Given the description of an element on the screen output the (x, y) to click on. 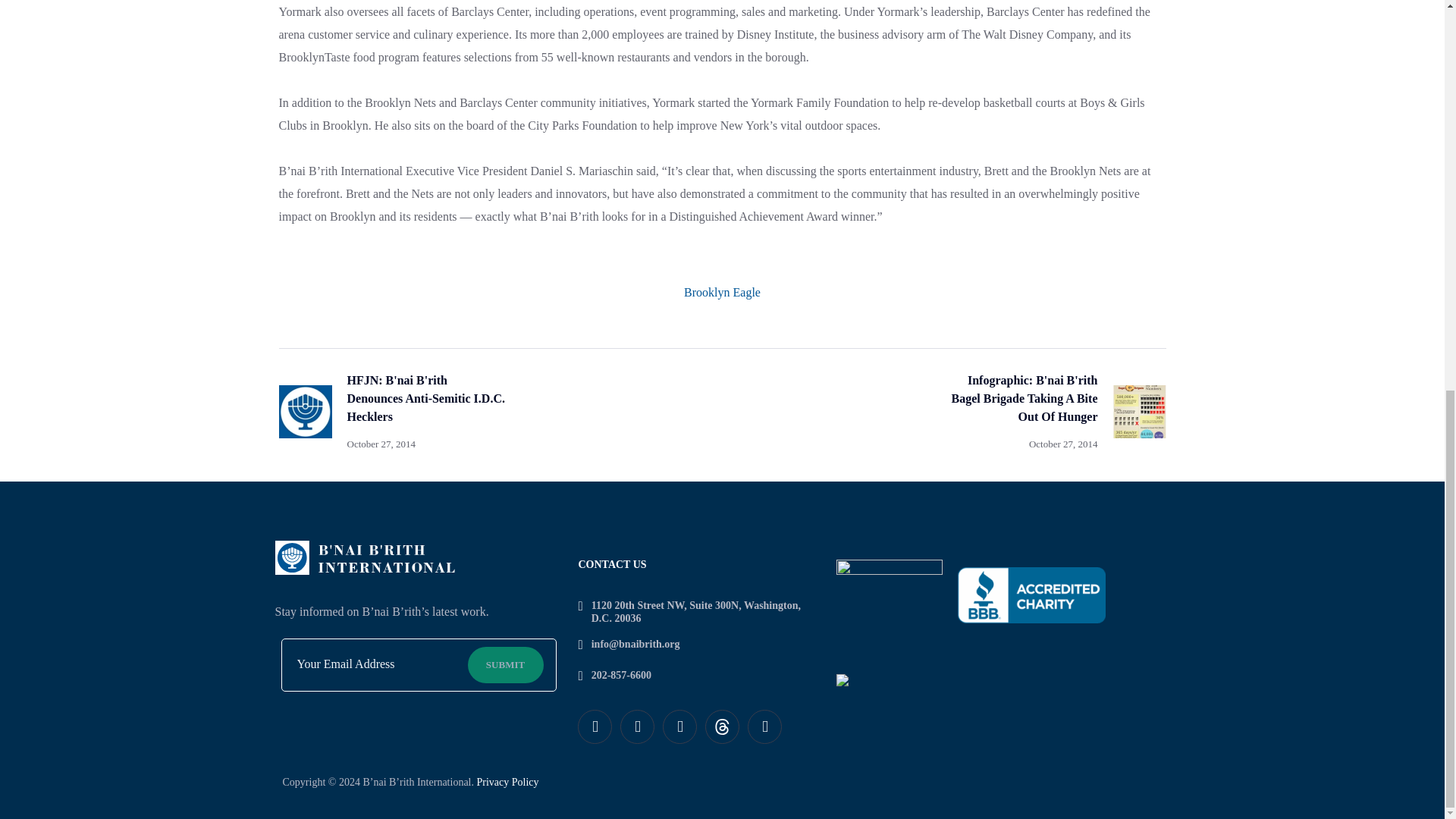
Threads (721, 726)
Facebook (594, 726)
Twitter (636, 726)
accredited-charity-seal (1031, 595)
Instagram (679, 726)
Submit (505, 665)
YouTube (764, 726)
